Given the description of an element on the screen output the (x, y) to click on. 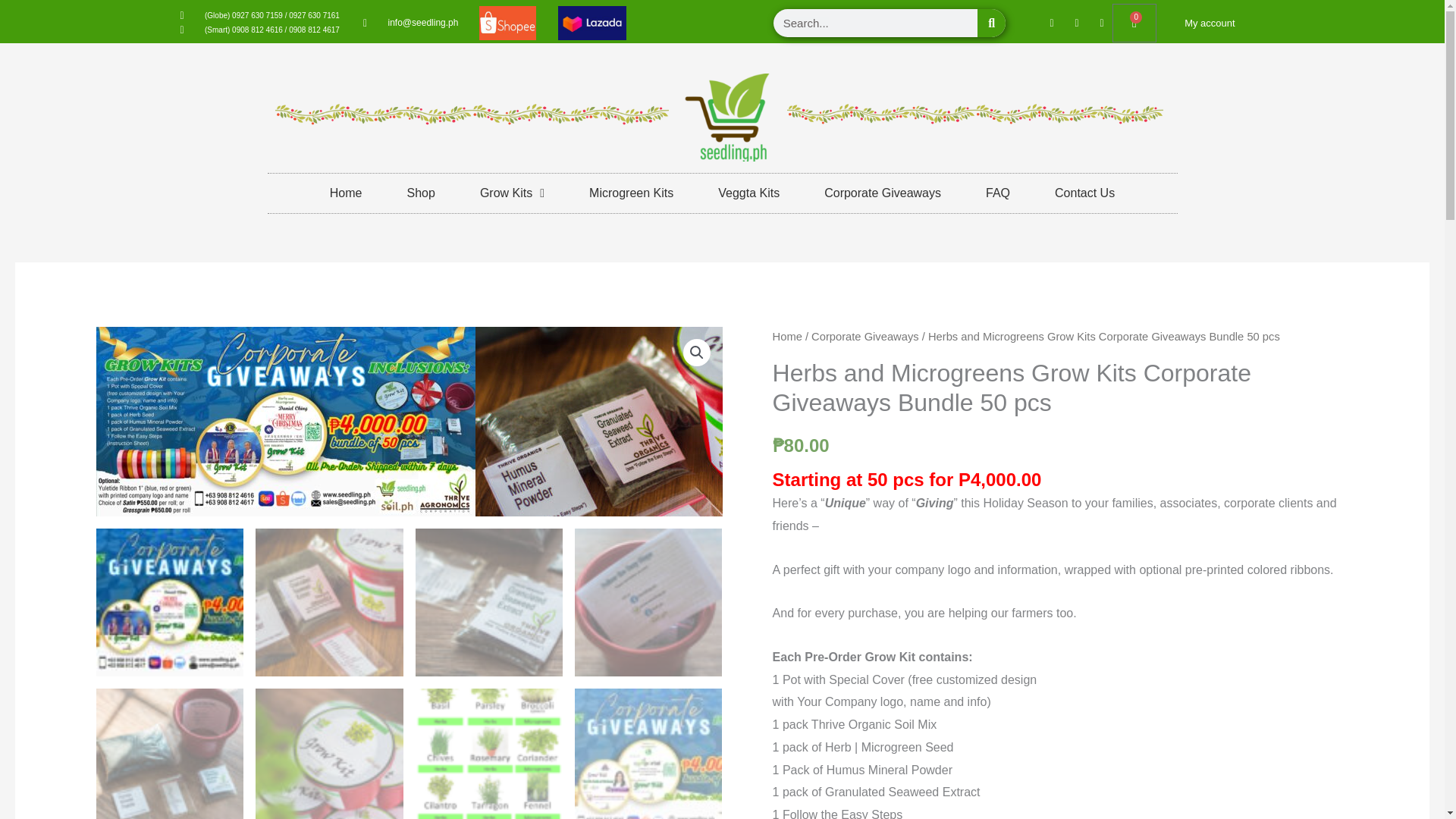
Shop (420, 192)
Facebook-f (1051, 22)
shopee icon orange bg (507, 22)
Home (345, 192)
Google-plus-g (1076, 22)
Grow Kits (511, 192)
FAQ (997, 192)
SeedlingPH-3722 (665, 452)
1 (286, 421)
lazada icon blue bg (591, 22)
Corporate Giveaways (1134, 23)
My account (882, 192)
Veggta Kits (1200, 22)
Instagram (748, 192)
